Given the description of an element on the screen output the (x, y) to click on. 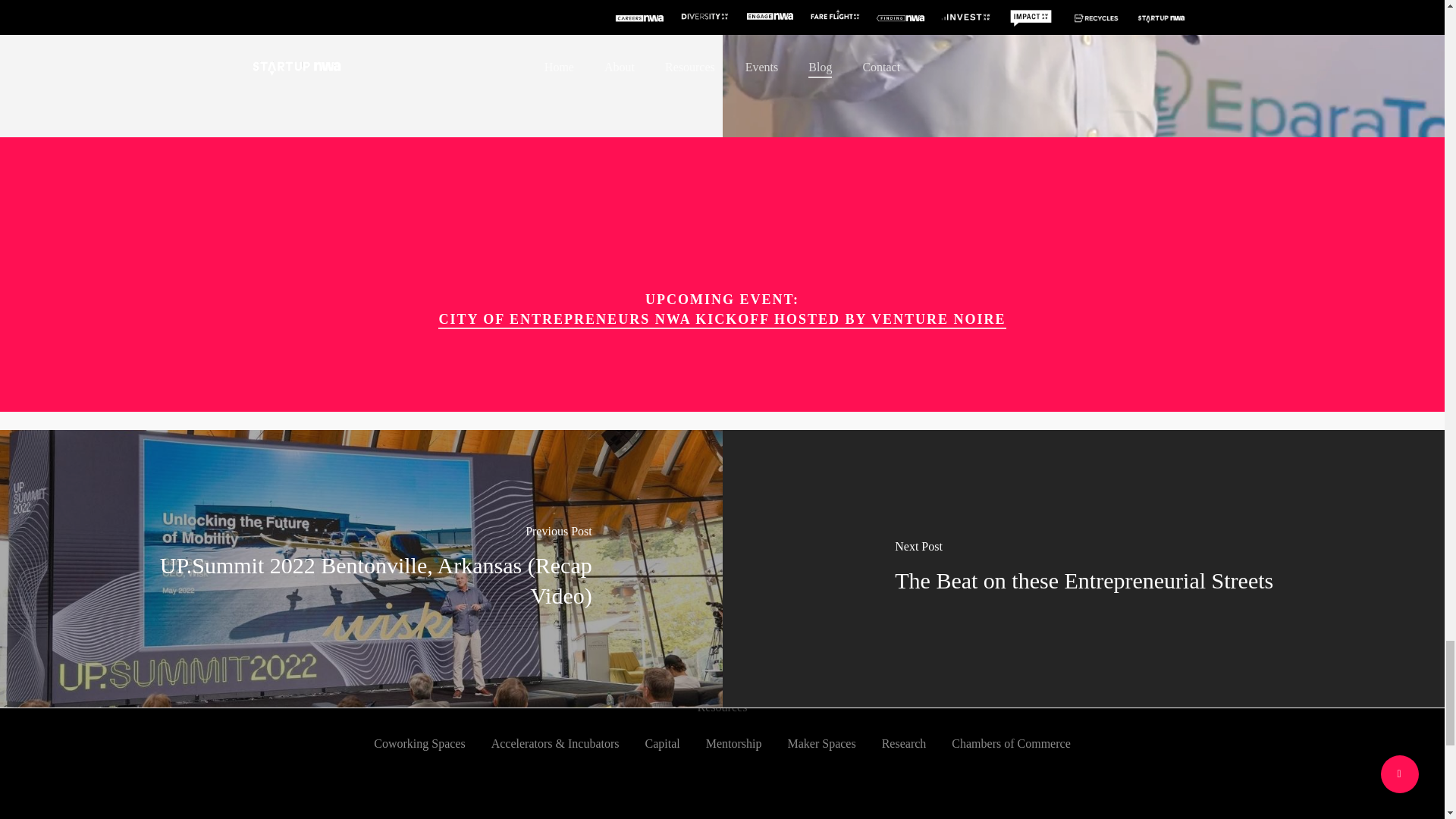
CITY OF ENTREPRENEURS NWA KICKOFF HOSTED BY VENTURE NOIRE (722, 319)
